Given the description of an element on the screen output the (x, y) to click on. 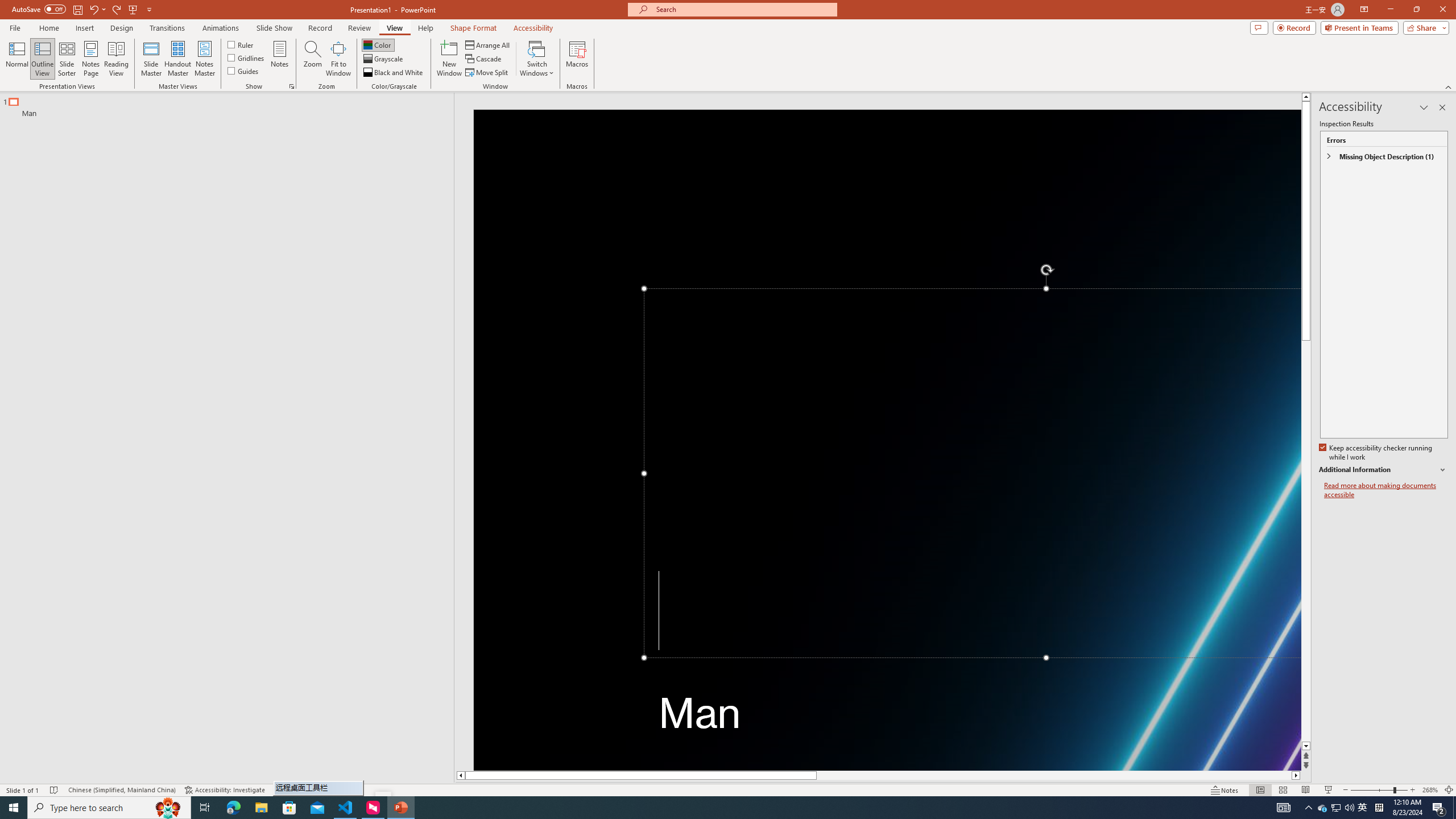
Decorative Locked (887, 439)
Notes (279, 58)
Slide Master (151, 58)
Handout Master (177, 58)
Subtitle TextBox (973, 723)
Move Split (487, 72)
Black and White (393, 72)
